Given the description of an element on the screen output the (x, y) to click on. 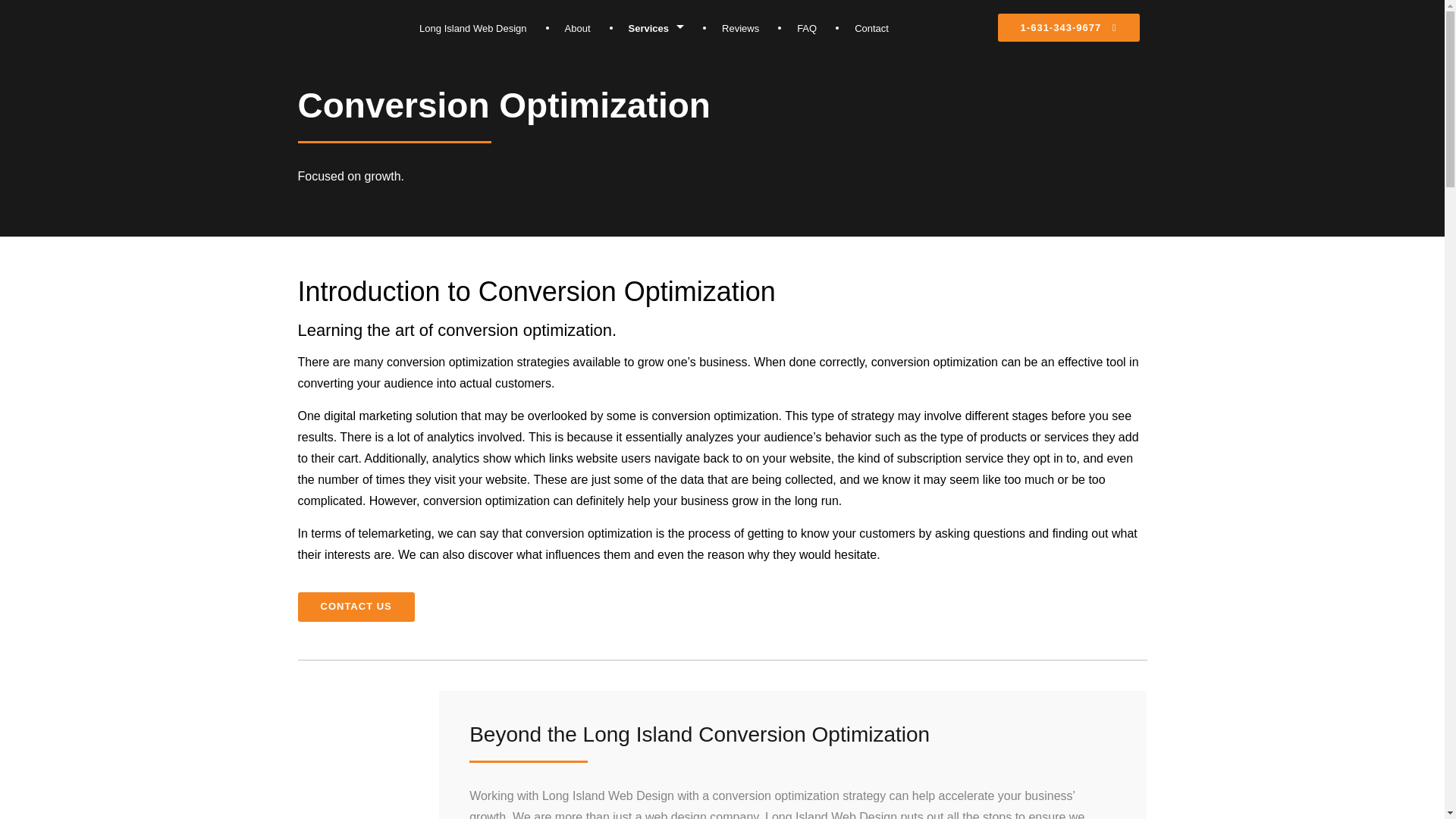
Long Island Web Design (472, 28)
About (577, 28)
1-631-343-9677 (1068, 27)
FAQ (807, 28)
Reviews (740, 28)
Long Island Web Design (472, 28)
Reviews (740, 28)
Services (656, 28)
Contact (871, 28)
Contact (871, 28)
